Given the description of an element on the screen output the (x, y) to click on. 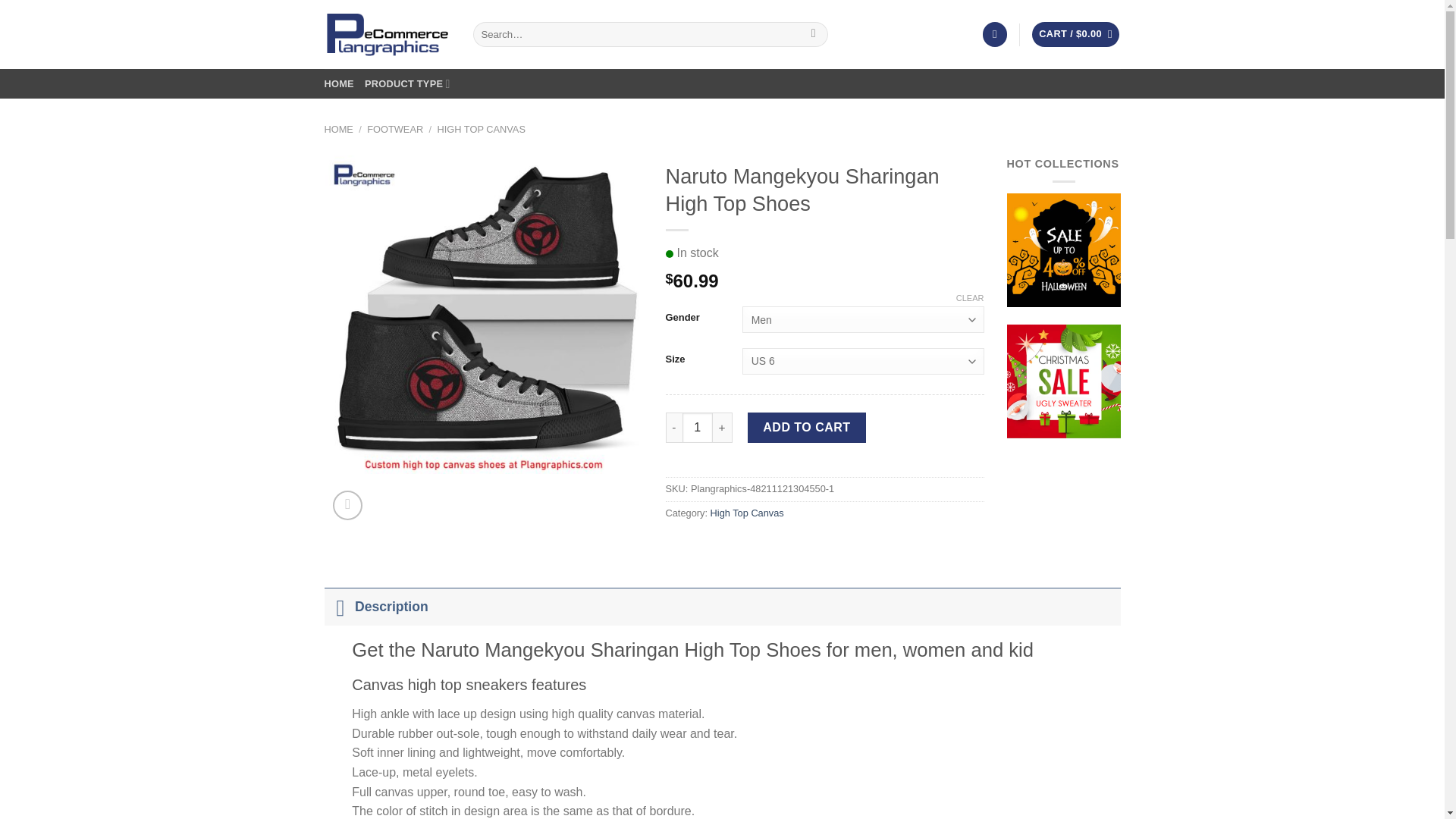
HOME (338, 129)
HOME (338, 83)
PRODUCT TYPE (407, 83)
- (673, 427)
Zoom (347, 505)
CLEAR (970, 297)
ADD TO CART (807, 427)
Plangraphics - Find The Boundaries. Push Through! (386, 34)
Search (812, 34)
HIGH TOP CANVAS (481, 129)
Cart (1075, 34)
1 (697, 427)
Description (722, 606)
High Top Canvas (747, 512)
FOOTWEAR (394, 129)
